Given the description of an element on the screen output the (x, y) to click on. 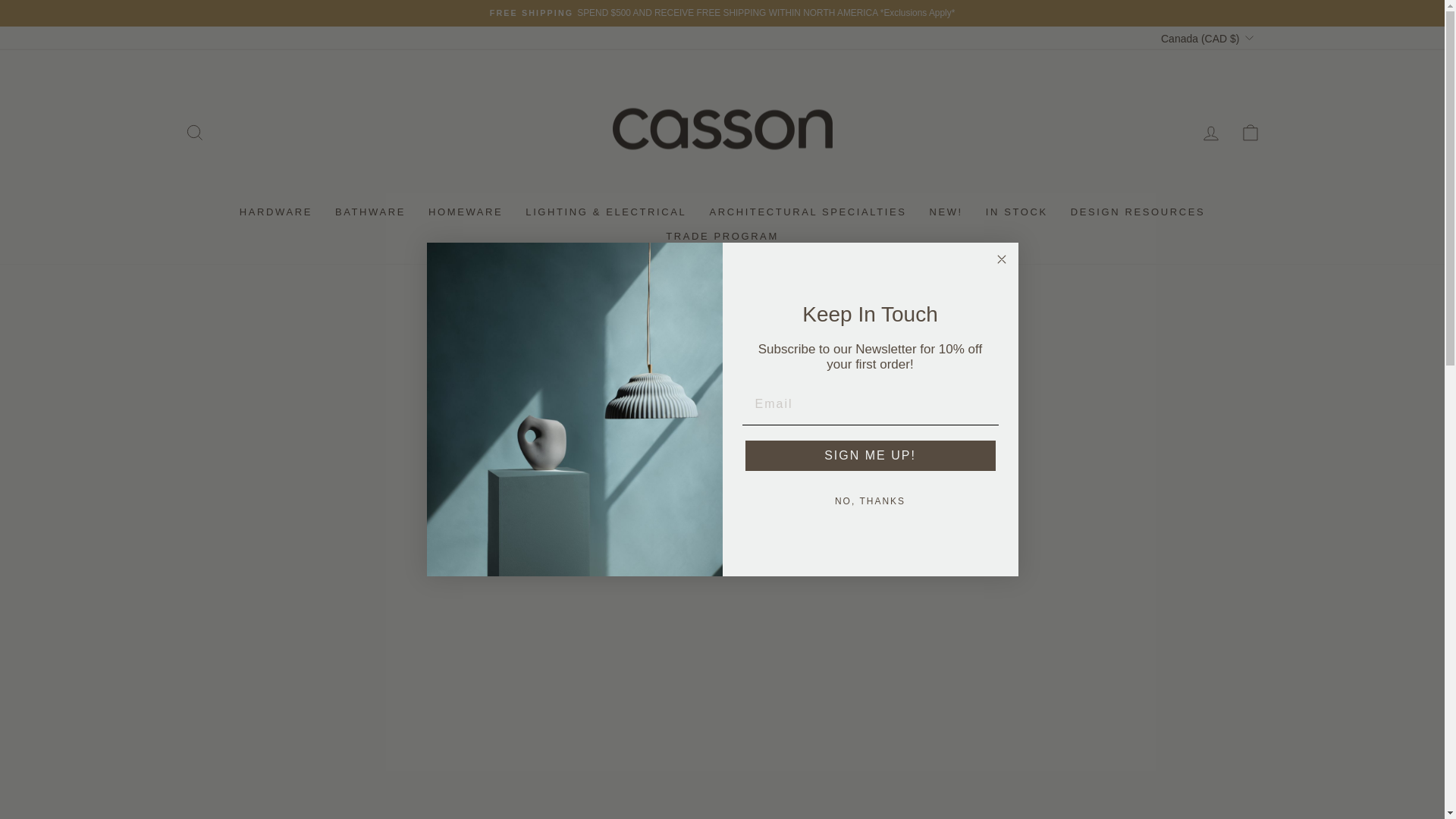
ICON-SEARCH (194, 132)
ICON-BAG-MINIMAL (1249, 132)
ACCOUNT (1210, 133)
